Given the description of an element on the screen output the (x, y) to click on. 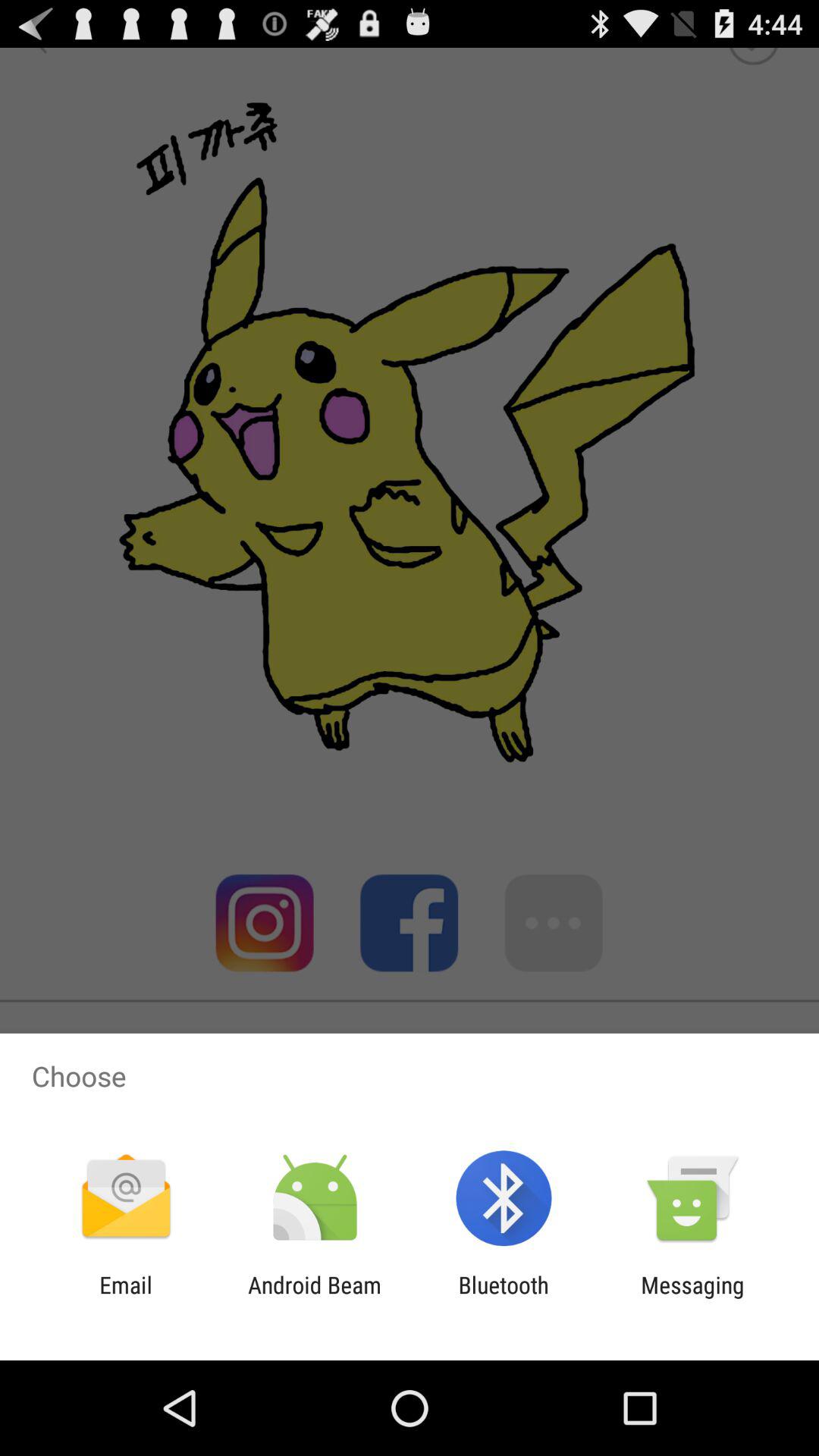
click app next to messaging (503, 1298)
